Given the description of an element on the screen output the (x, y) to click on. 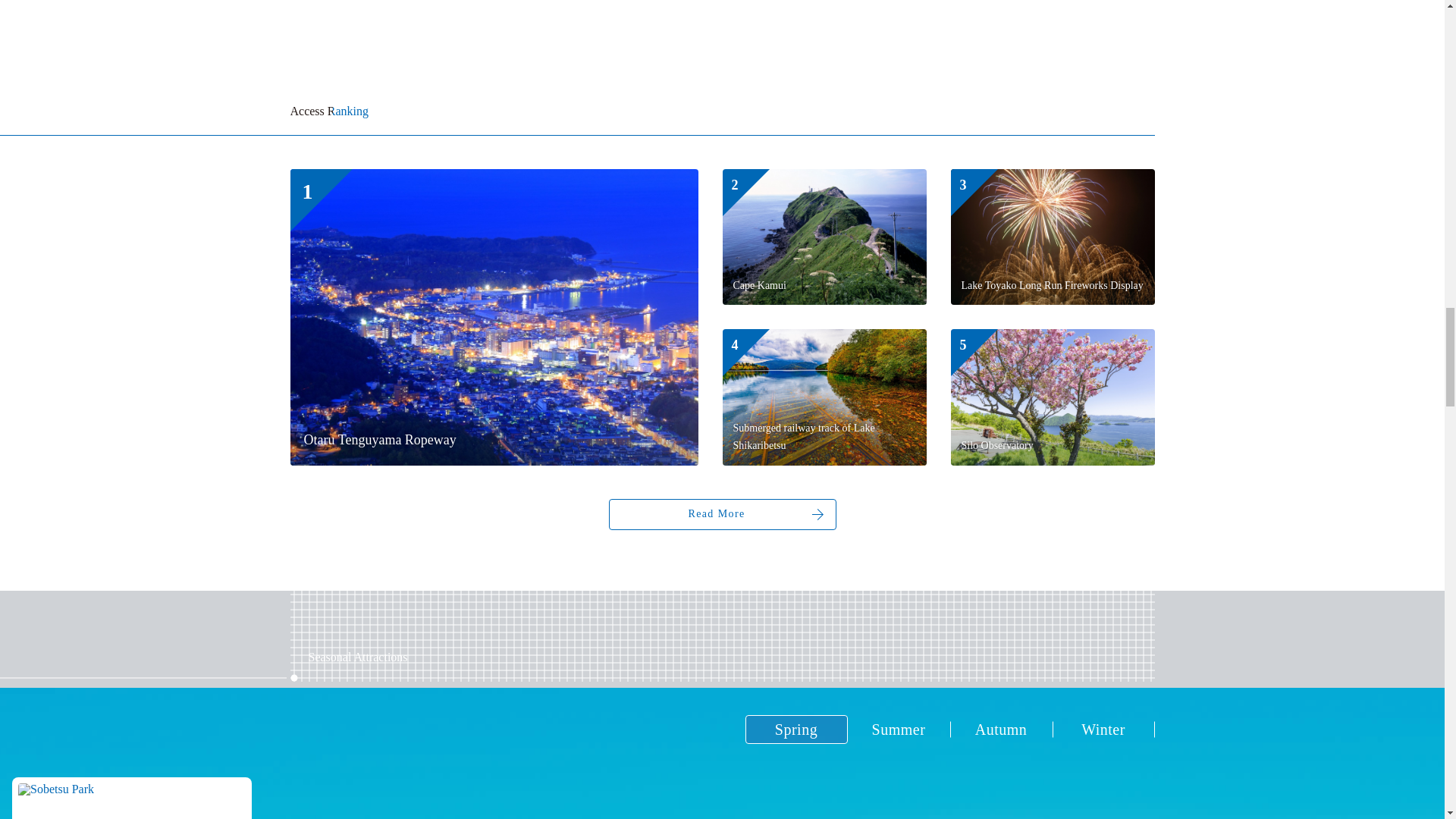
Otaru Tenguyama Ropeway (493, 317)
Lake Toyako Long Run Fireworks Display (1052, 236)
Submerged railway track of Lake Shikaribetsu (824, 397)
Silo Observatory (1052, 397)
Sobetsu Park (131, 798)
Cape Kamui (824, 236)
